Given the description of an element on the screen output the (x, y) to click on. 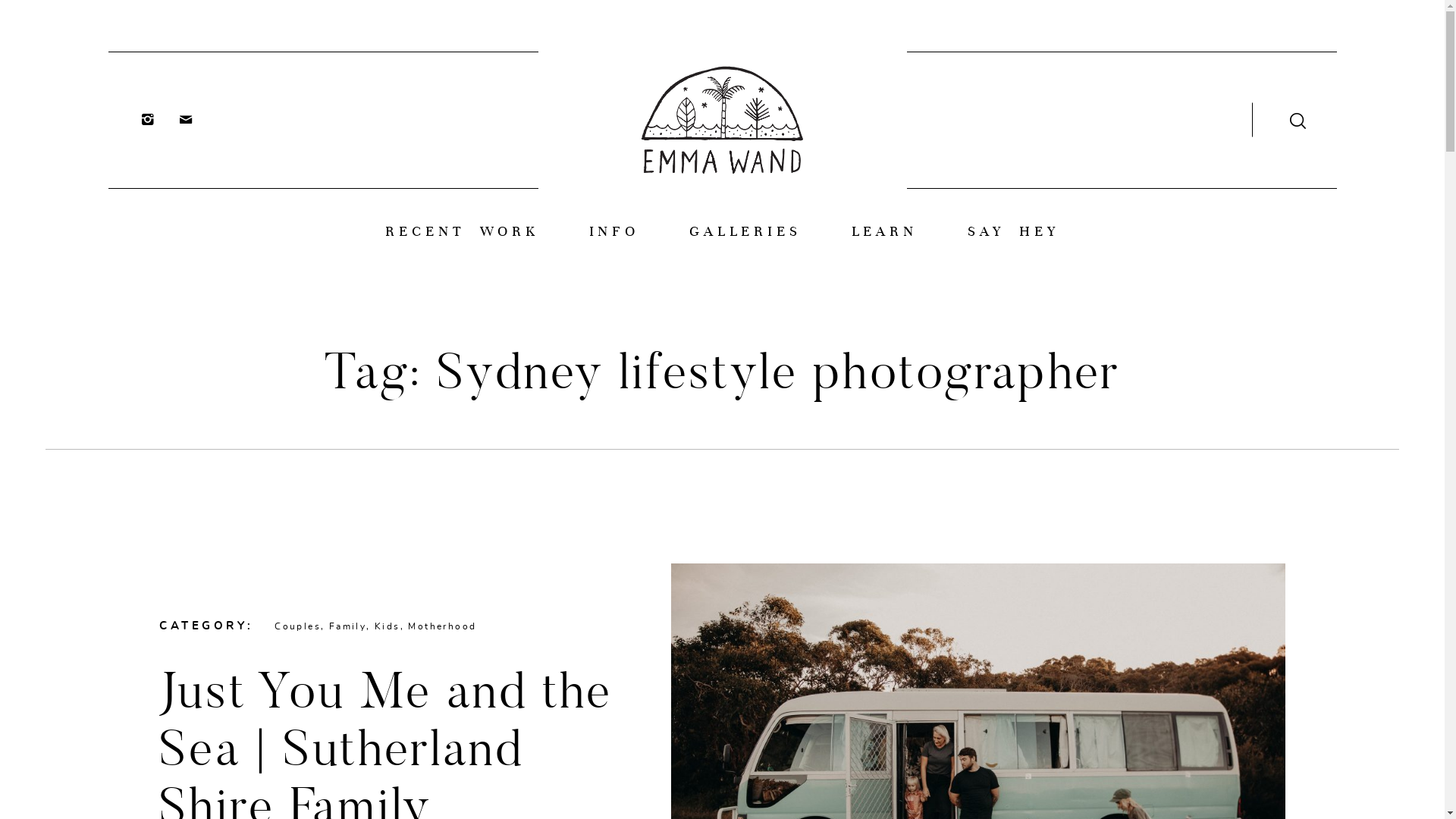
Motherhood Element type: text (441, 626)
Kids Element type: text (387, 626)
INFO Element type: text (614, 231)
LEARN Element type: text (884, 231)
SAY HEY Element type: text (1013, 231)
Couples Element type: text (297, 626)
Family Element type: text (347, 626)
GALLERIES Element type: text (745, 231)
RECENT WORK Element type: text (461, 231)
